Given the description of an element on the screen output the (x, y) to click on. 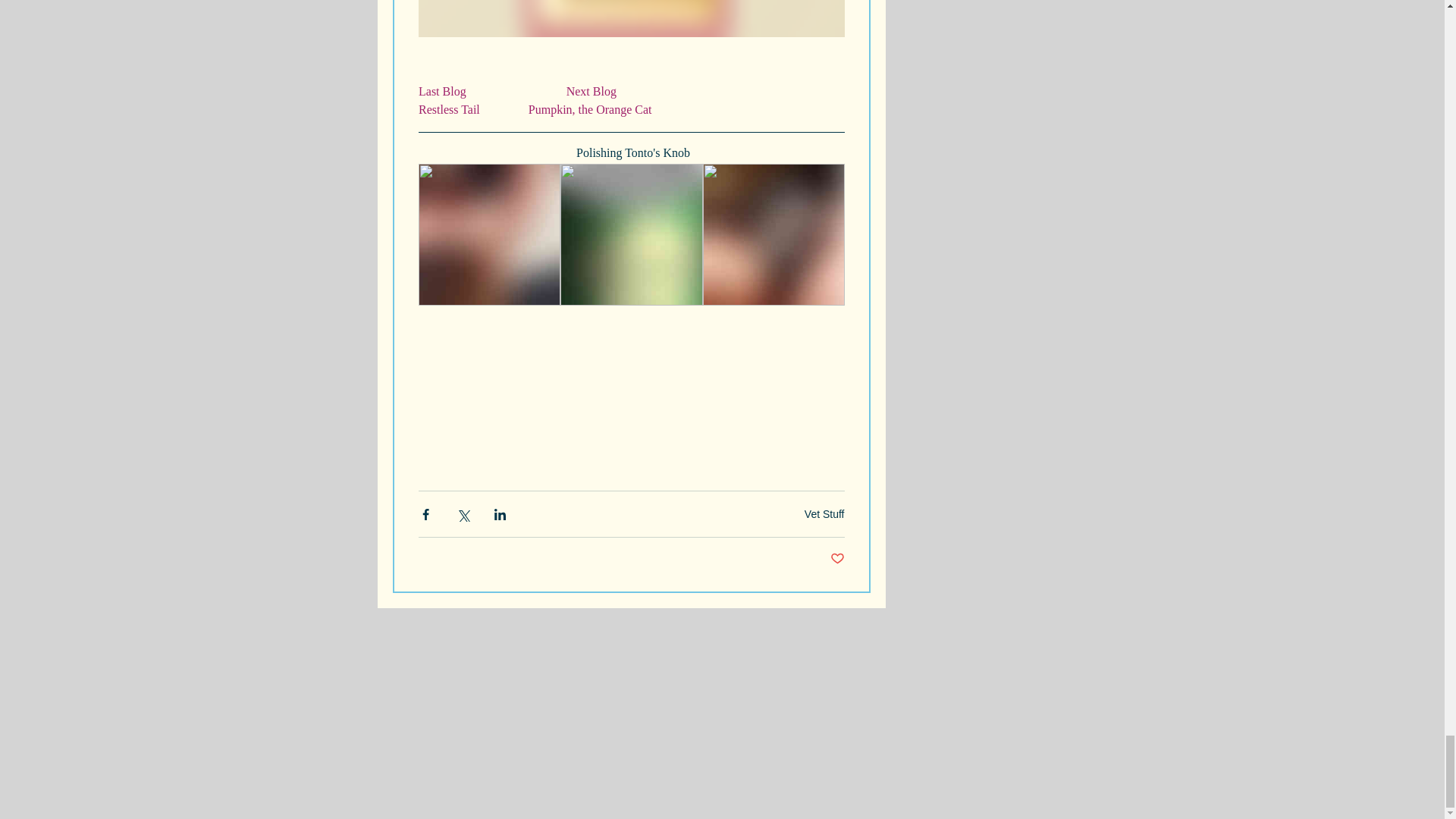
Vet Stuff (824, 513)
Post not marked as liked (836, 559)
